Given the description of an element on the screen output the (x, y) to click on. 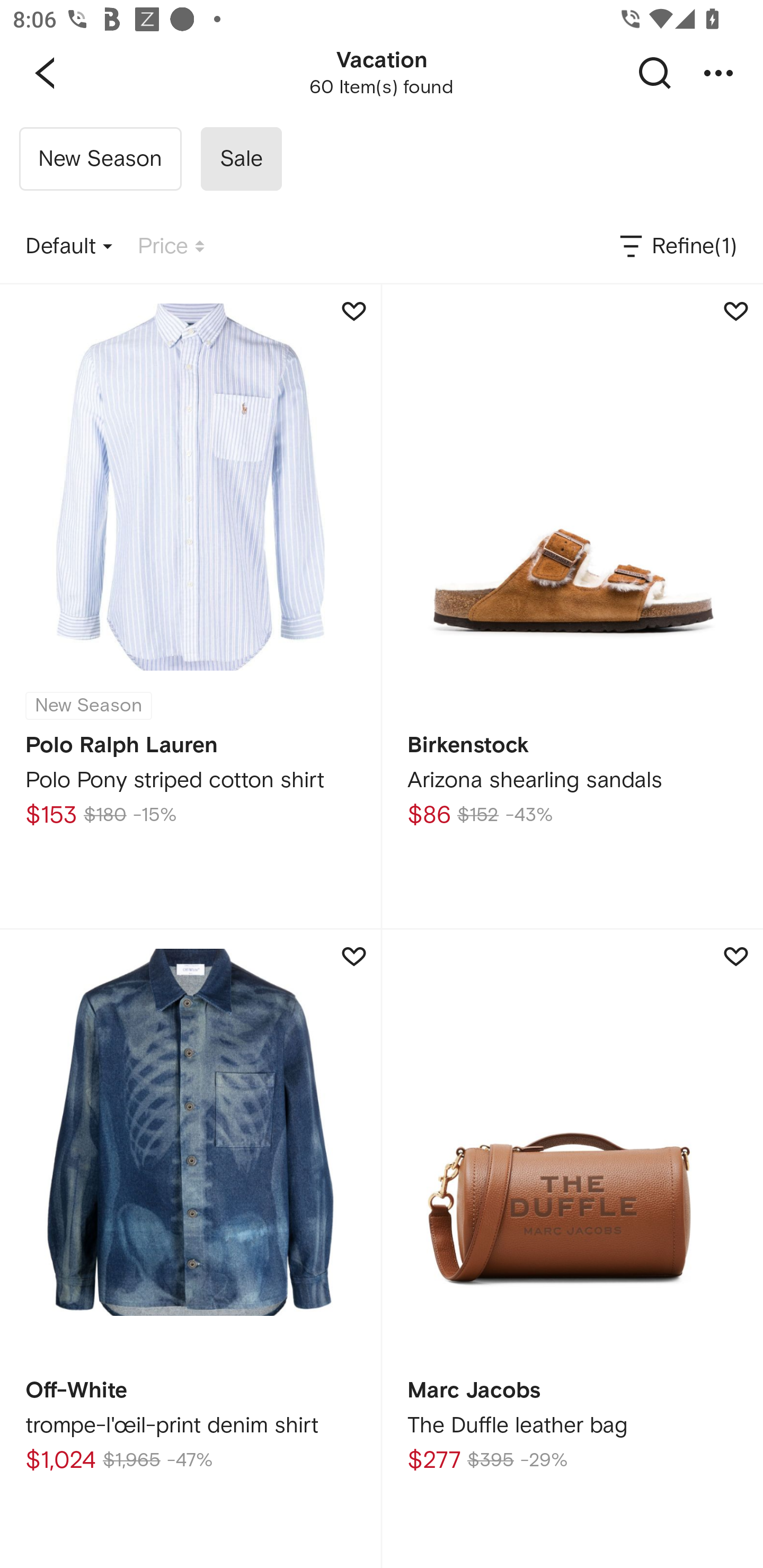
New Season (100, 158)
Sale (240, 158)
Default (68, 246)
Price (171, 246)
Refine(1) (677, 246)
Marc Jacobs The Duffle leather bag $277 $395 -29% (572, 1248)
